Given the description of an element on the screen output the (x, y) to click on. 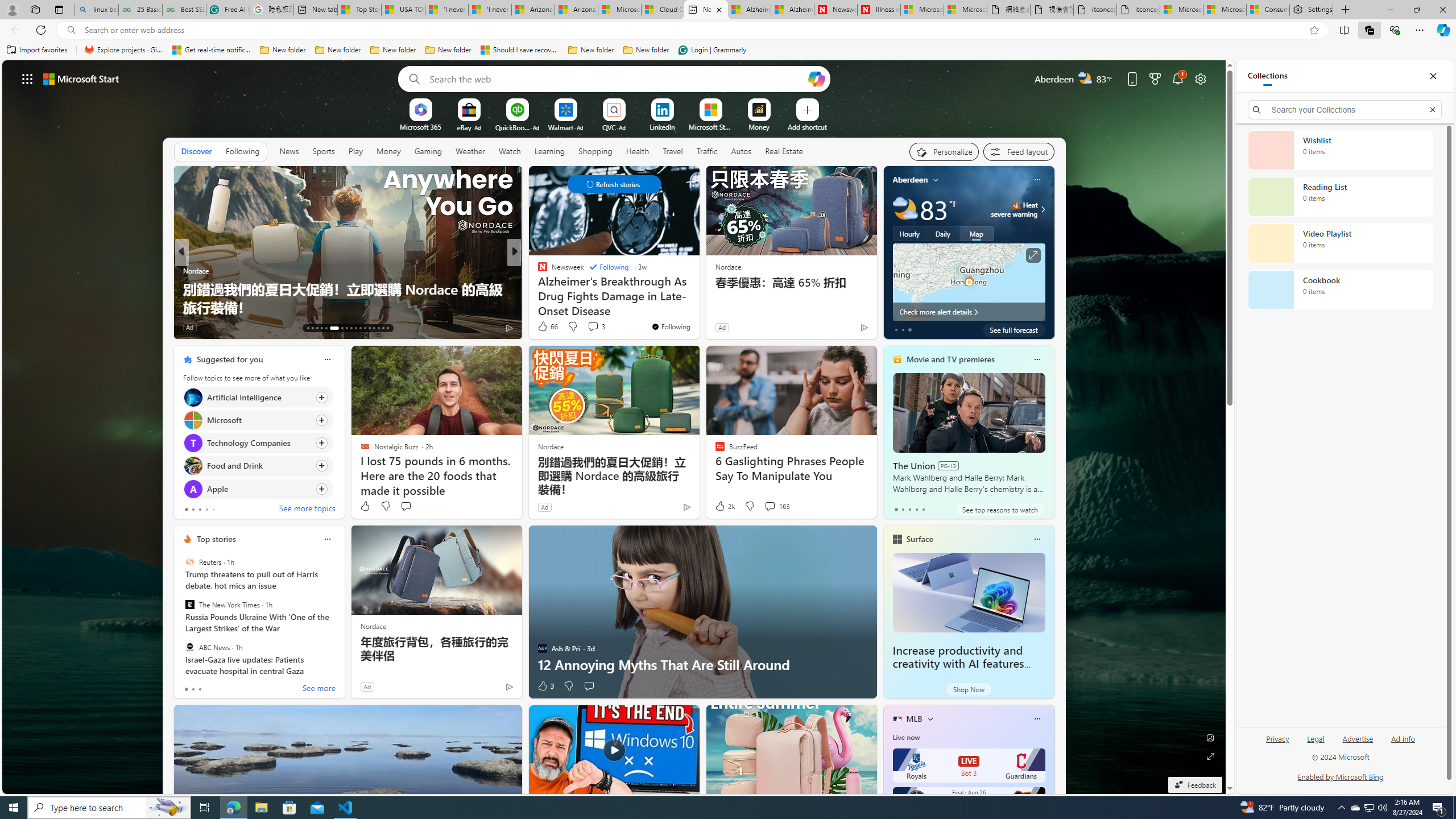
How to mirror iPhone to PC (697, 307)
Expand background (1210, 756)
linux basic - Search (96, 9)
Food & Wine (537, 270)
TODAY (537, 270)
Network Products (697, 307)
Reader's Digest (537, 270)
Best SSL Certificates Provider in India - GeeksforGeeks (184, 9)
Search icon (70, 29)
Check more alert details (968, 311)
